Given the description of an element on the screen output the (x, y) to click on. 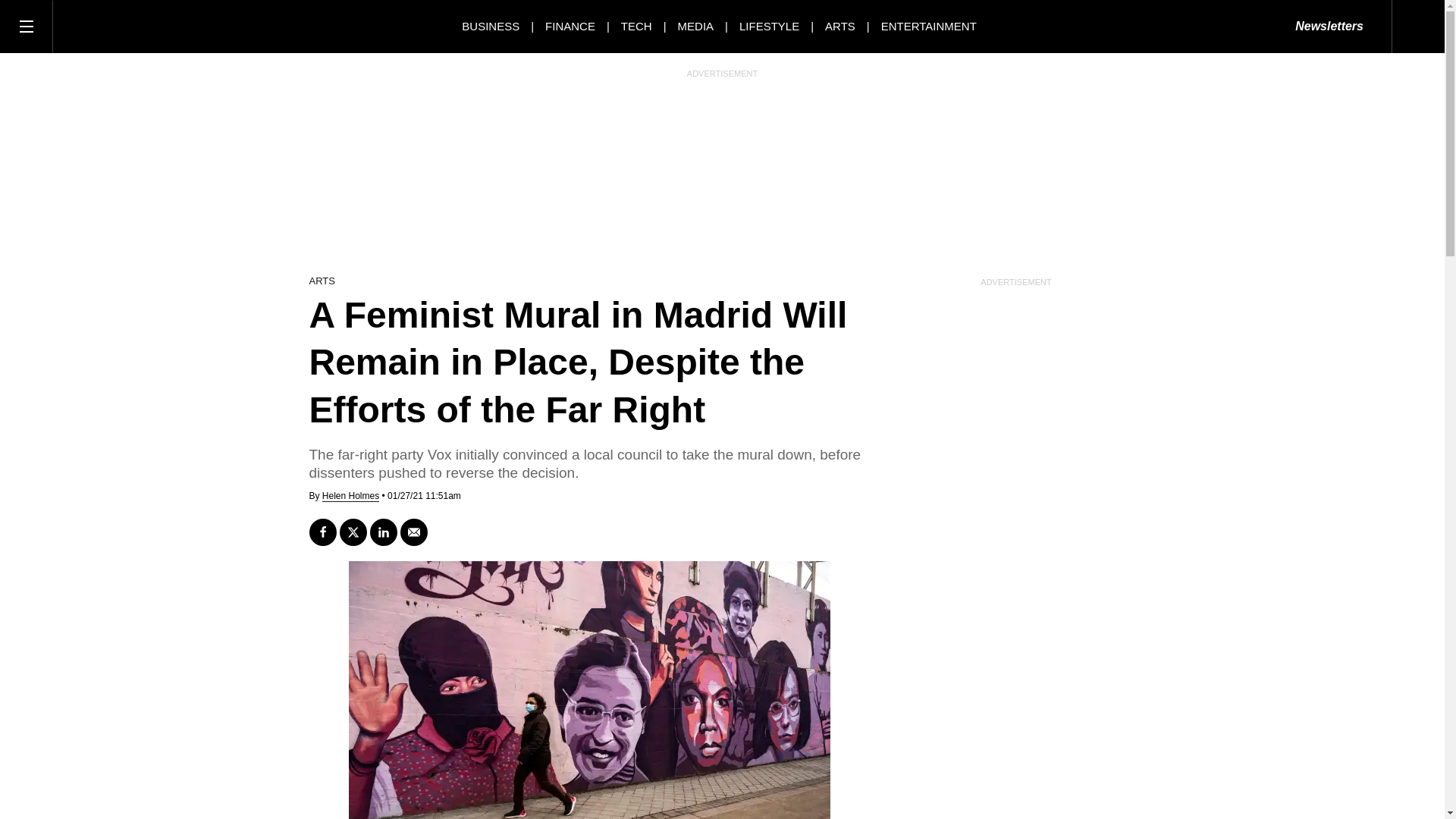
MEDIA (696, 25)
Send email (414, 532)
BUSINESS (490, 25)
View All Posts by Helen Holmes (349, 496)
Share on Facebook (322, 532)
ENTERTAINMENT (928, 25)
FINANCE (569, 25)
Observer (121, 26)
Share on LinkedIn (383, 532)
LIFESTYLE (769, 25)
